Given the description of an element on the screen output the (x, y) to click on. 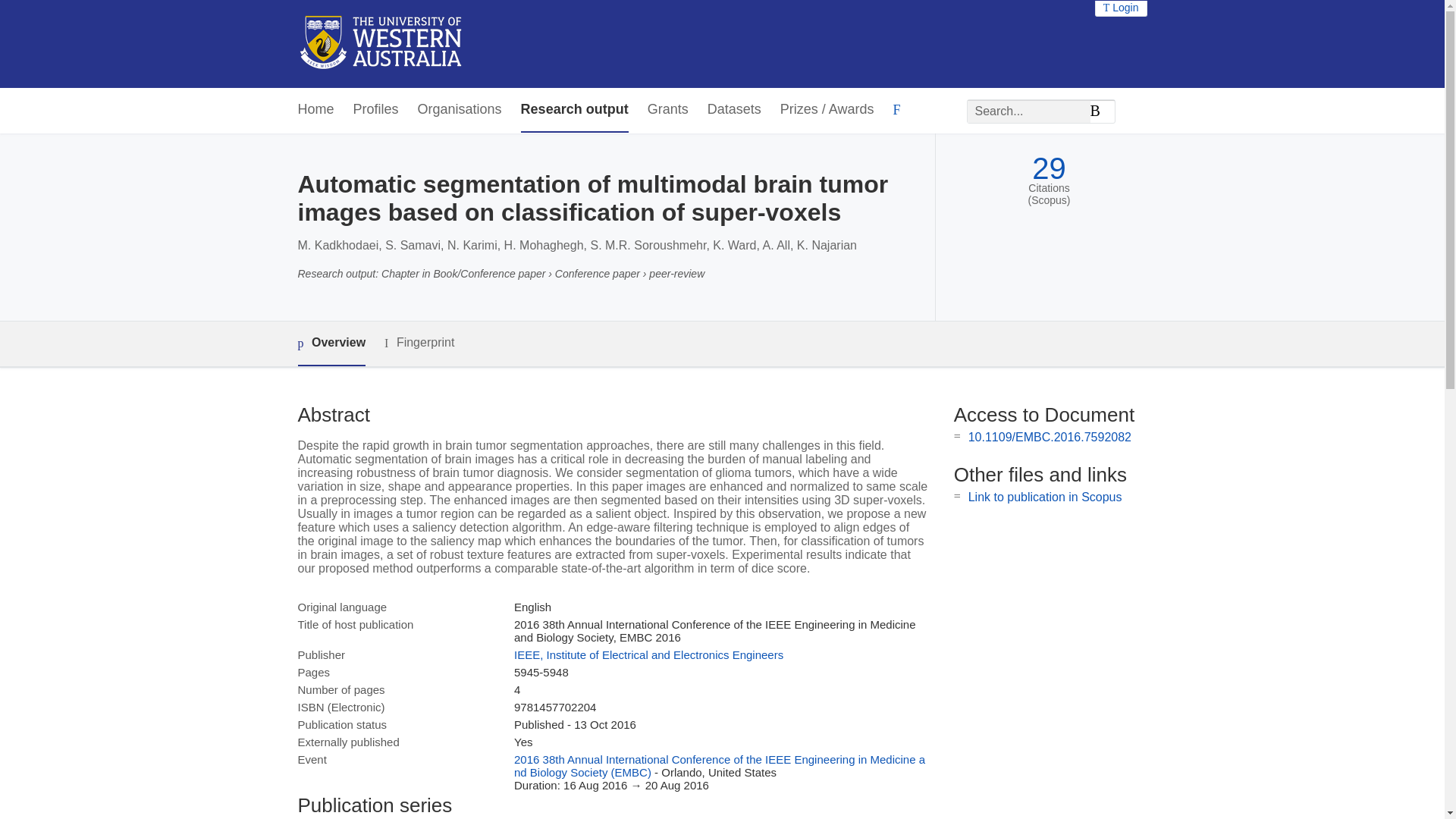
Research output (574, 109)
29 (1048, 168)
Login (1121, 7)
IEEE, Institute of Electrical and Electronics Engineers (648, 654)
Grants (667, 109)
Link to publication in Scopus (1045, 496)
Overview (331, 343)
Datasets (734, 109)
the UWA Profiles and Research Repository Home (380, 43)
